Given the description of an element on the screen output the (x, y) to click on. 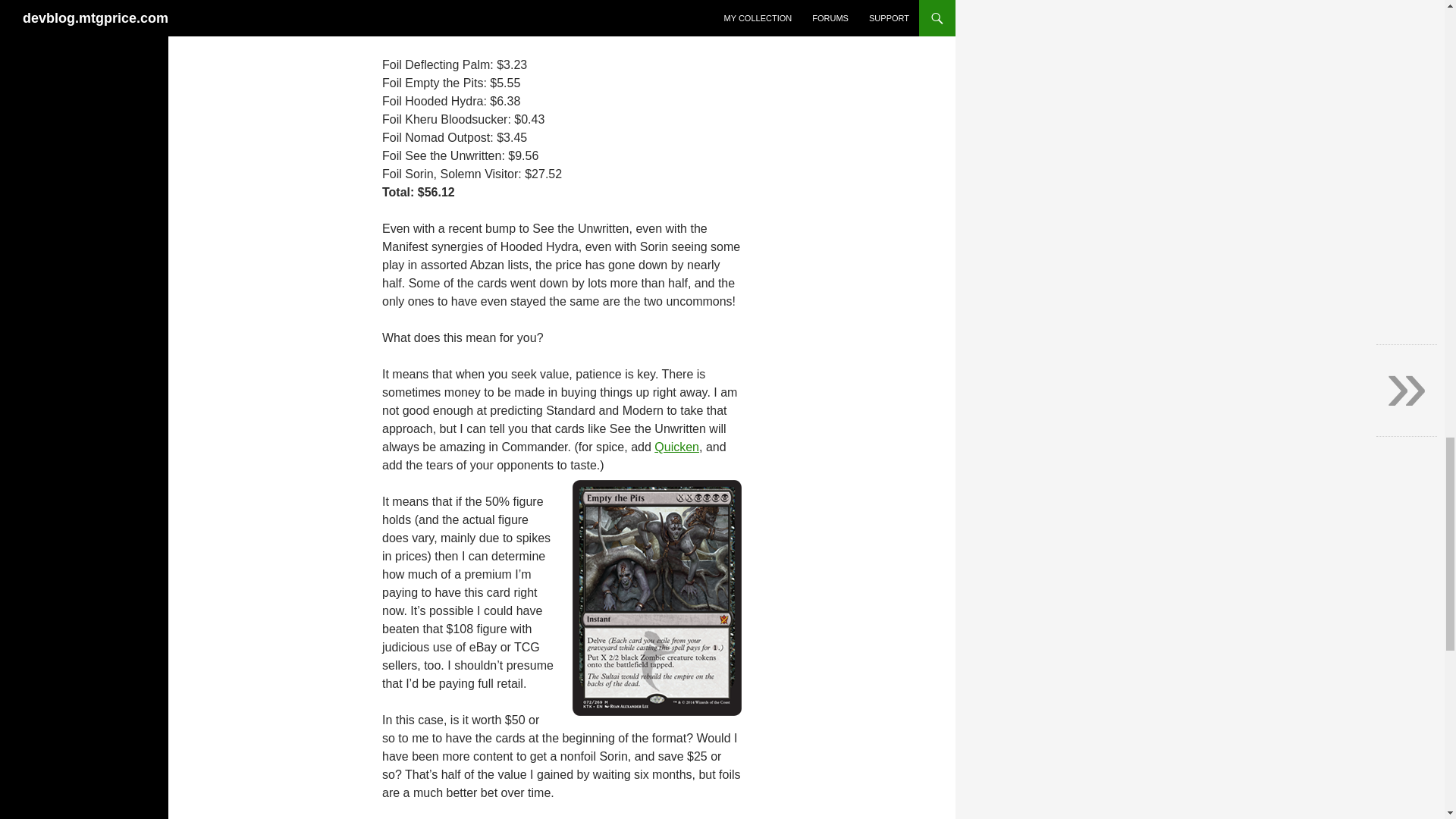
Quicken (675, 446)
